Given the description of an element on the screen output the (x, y) to click on. 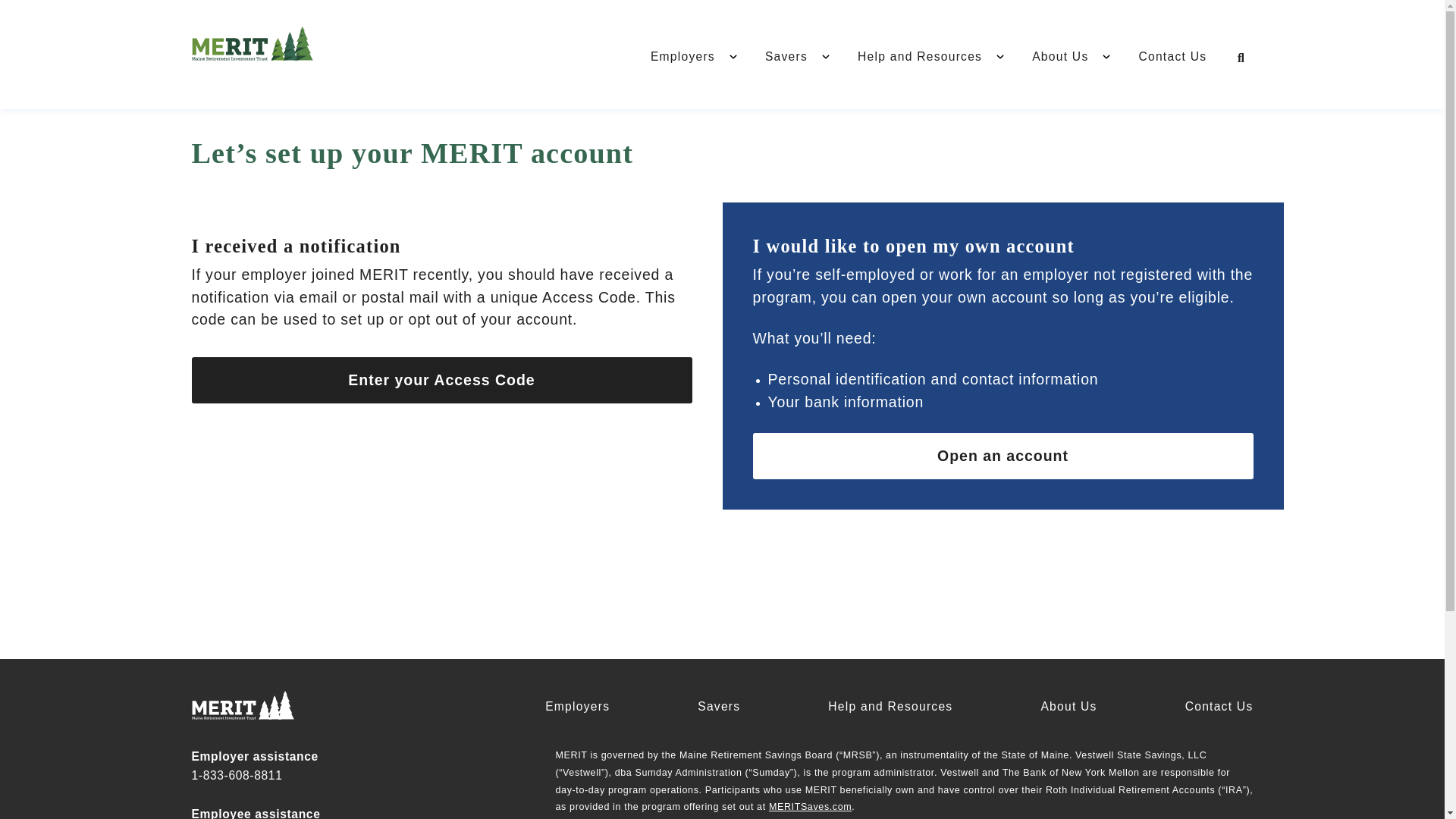
Search (1240, 57)
About Us (1060, 56)
About Us (1068, 706)
Help and Resources (890, 706)
Savers (786, 56)
Contact Us (1219, 706)
Savers (718, 706)
MERITSaves.com (809, 806)
Employers (682, 56)
Employers (577, 706)
Contact Us (1172, 56)
Help and Resources (920, 56)
